Given the description of an element on the screen output the (x, y) to click on. 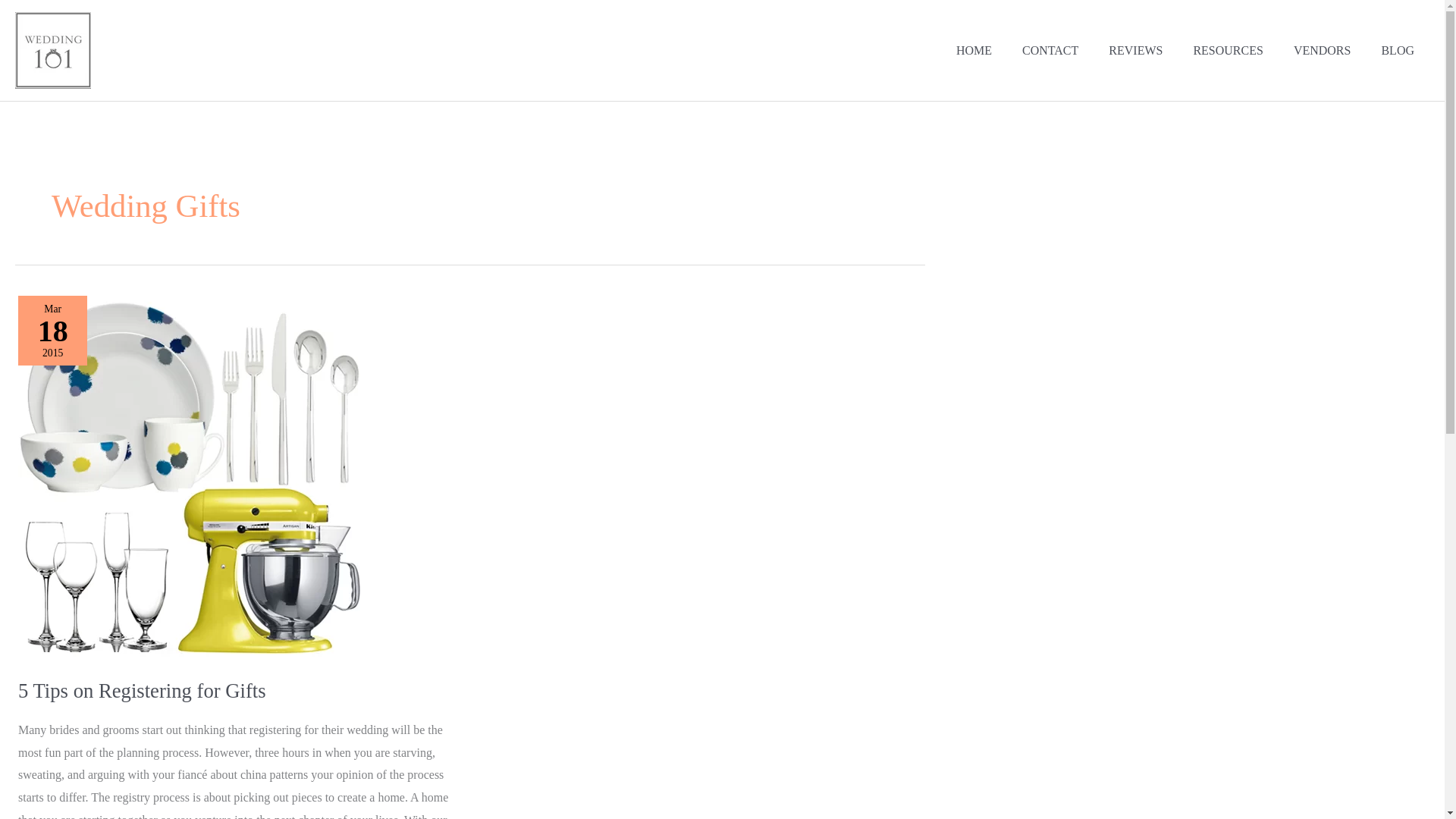
VENDORS (1322, 49)
BLOG (1397, 49)
RESOURCES (1227, 49)
REVIEWS (1135, 49)
CONTACT (1050, 49)
5 Tips on Registering for Gifts (141, 690)
HOME (973, 49)
